Given the description of an element on the screen output the (x, y) to click on. 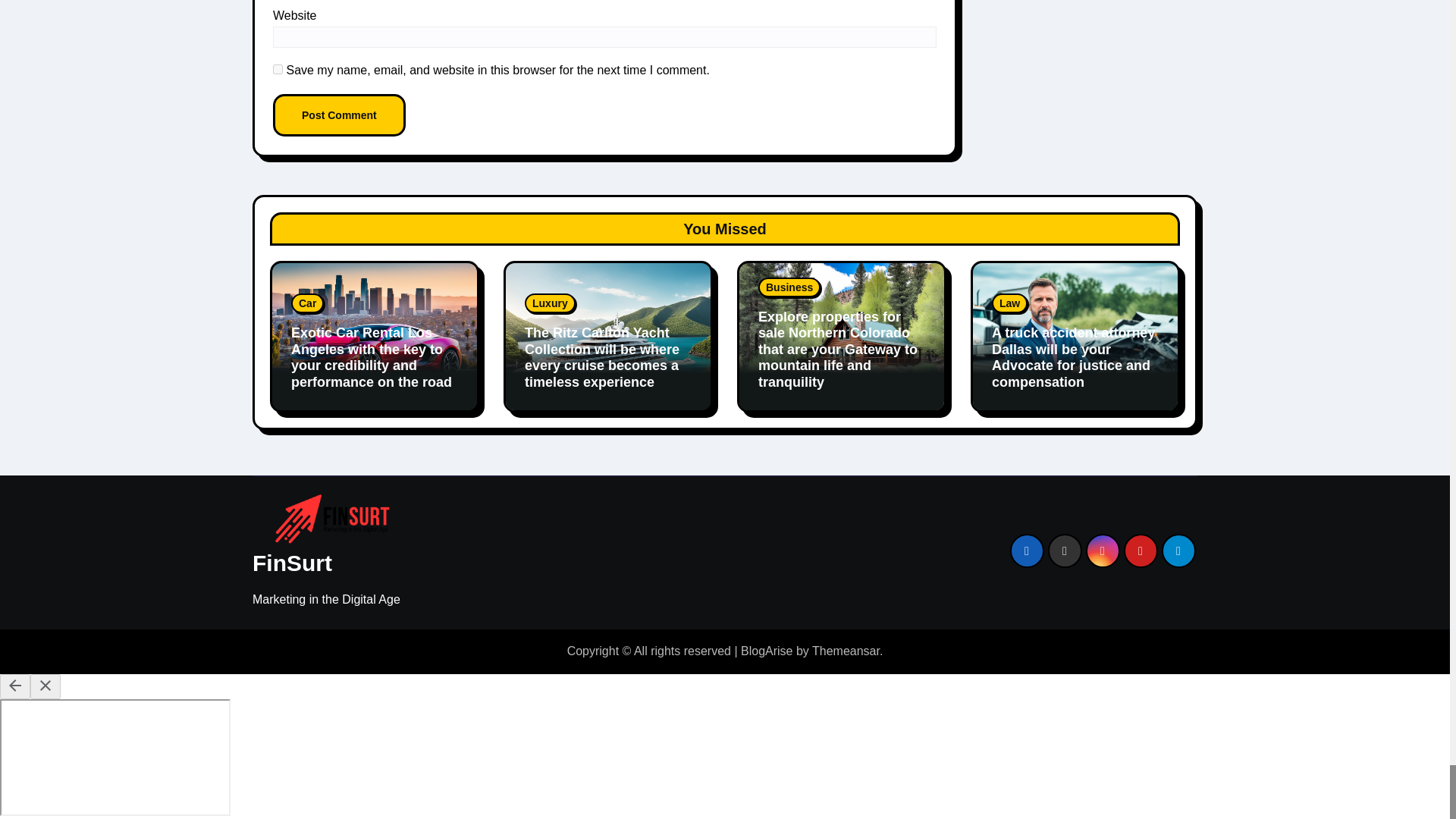
Post Comment (339, 115)
yes (277, 69)
